Given the description of an element on the screen output the (x, y) to click on. 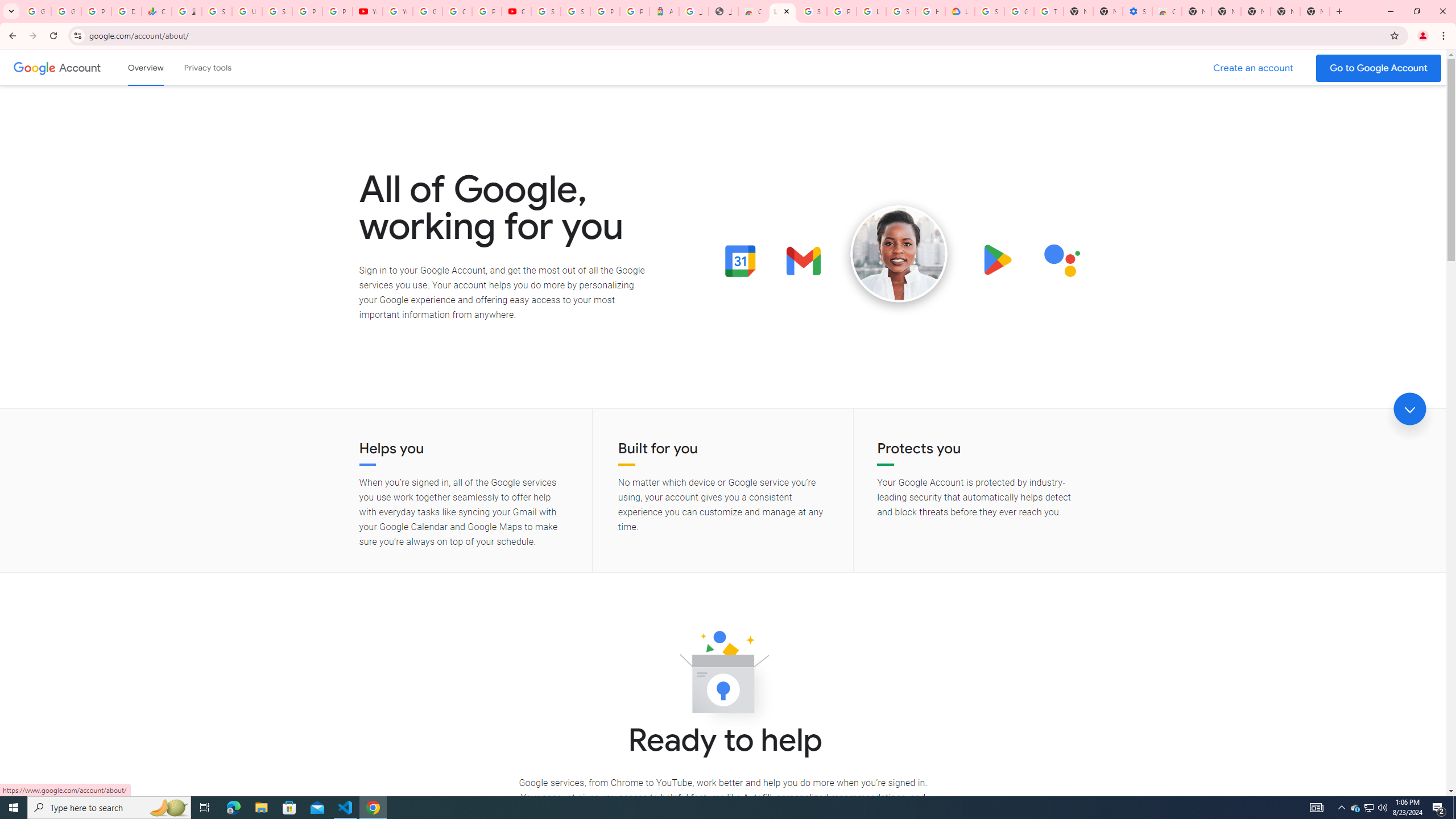
Sign in - Google Accounts (811, 11)
New Tab (1196, 11)
Forward (32, 35)
Atour Hotel - Google hotels (664, 11)
Reload (52, 35)
Google Workspace Admin Community (36, 11)
Skip to Content (162, 65)
Settings - Accessibility (1137, 11)
Google Account (80, 67)
Go to your Google Account (1378, 67)
System (6, 6)
